Given the description of an element on the screen output the (x, y) to click on. 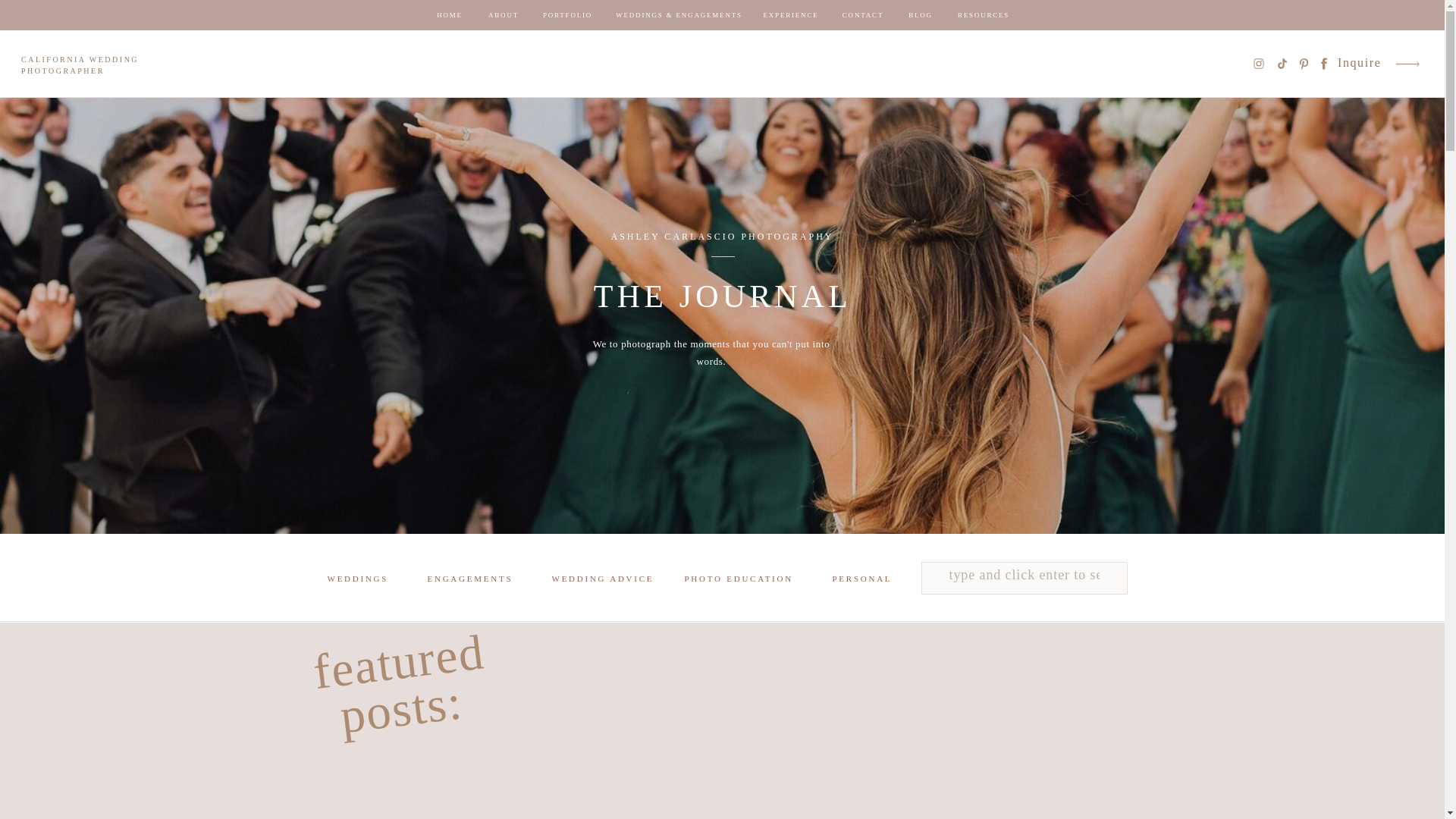
ABOUT (503, 15)
BLOG (920, 15)
arrow (1407, 63)
WEDDING ADVICE (605, 580)
ENGAGEMENTS (473, 580)
EXPERIENCE (790, 15)
Inquire  (1360, 64)
CONTACT (863, 15)
PHOTO EDUCATION (740, 580)
CALIFORNIA WEDDING PHOTOGRAPHER (91, 67)
WEDDINGS (357, 580)
arrow (1407, 63)
PORTFOLIO (567, 15)
PERSONAL (868, 580)
HOME (448, 15)
